Given the description of an element on the screen output the (x, y) to click on. 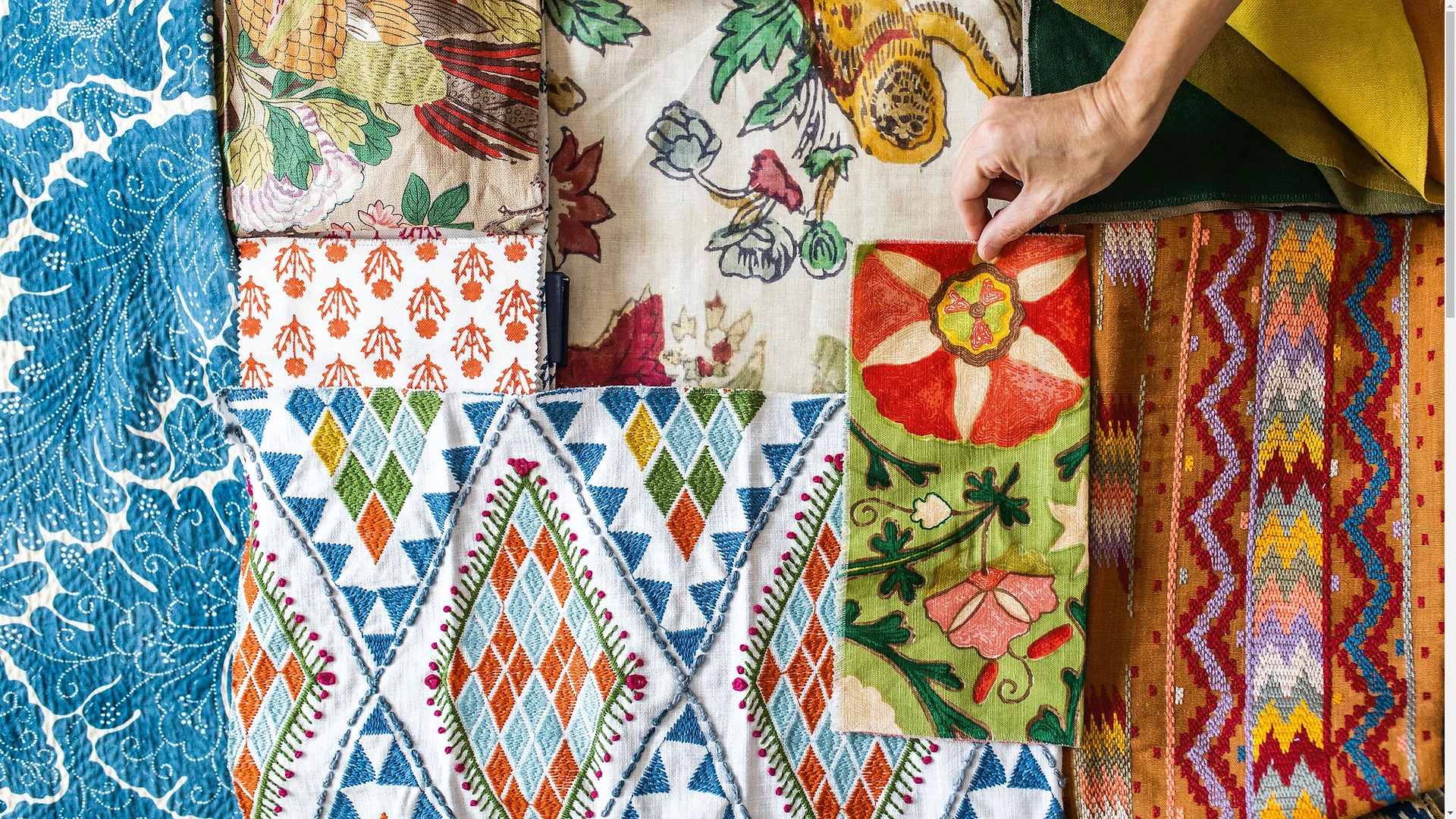
EC Collective Element type: text (746, 7)
Customer Service Element type: text (792, 7)
Designer Element type: text (701, 7)
Commercial Element type: text (769, 7)
Home Element type: text (655, 7)
Studio Element type: text (678, 7)
Essentials Element type: text (723, 7)
